Given the description of an element on the screen output the (x, y) to click on. 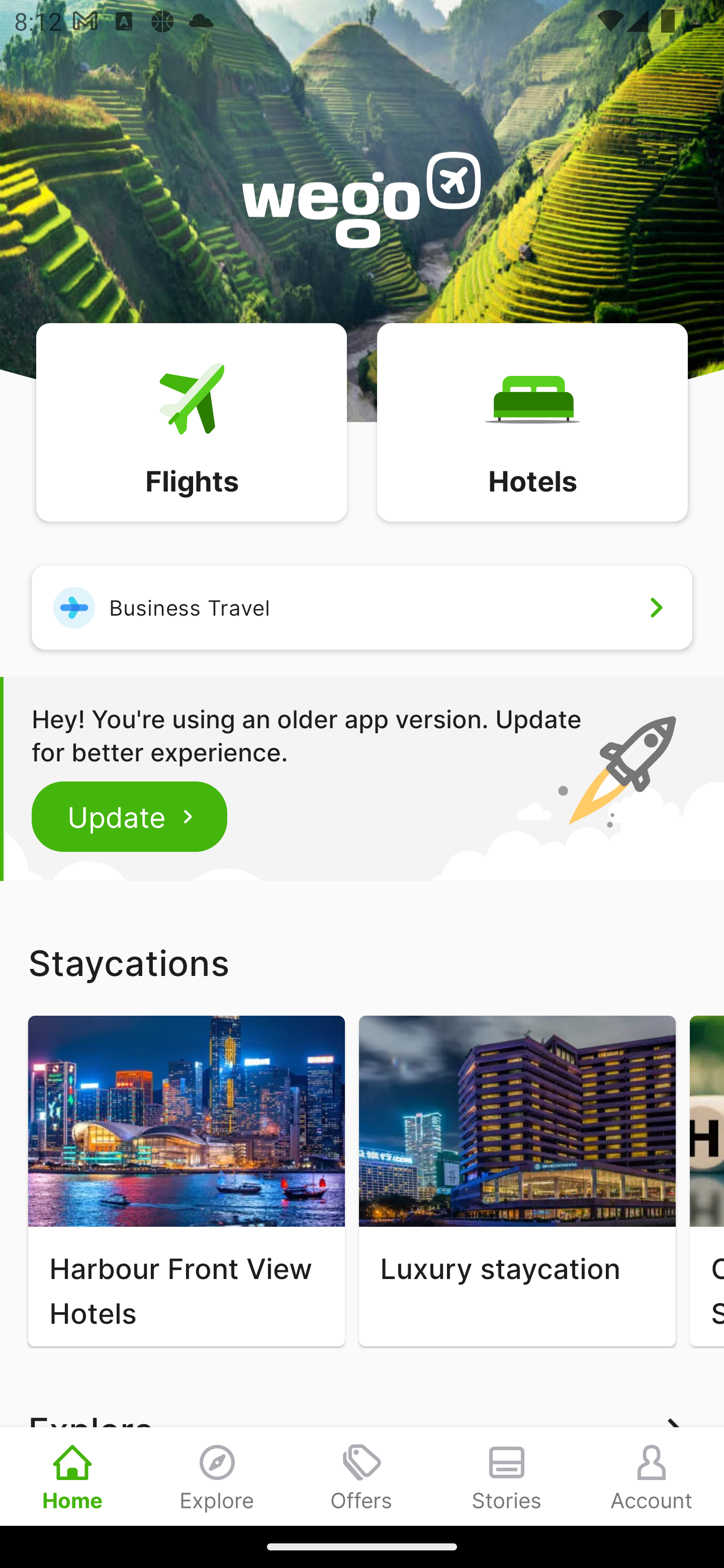
Flights (191, 420)
Hotels (532, 420)
Business Travel (361, 607)
Update (129, 815)
Staycations (362, 962)
Harbour Front View Hotels (186, 1181)
Luxury staycation (517, 1181)
Explore (216, 1475)
Offers (361, 1475)
Stories (506, 1475)
Account (651, 1475)
